Given the description of an element on the screen output the (x, y) to click on. 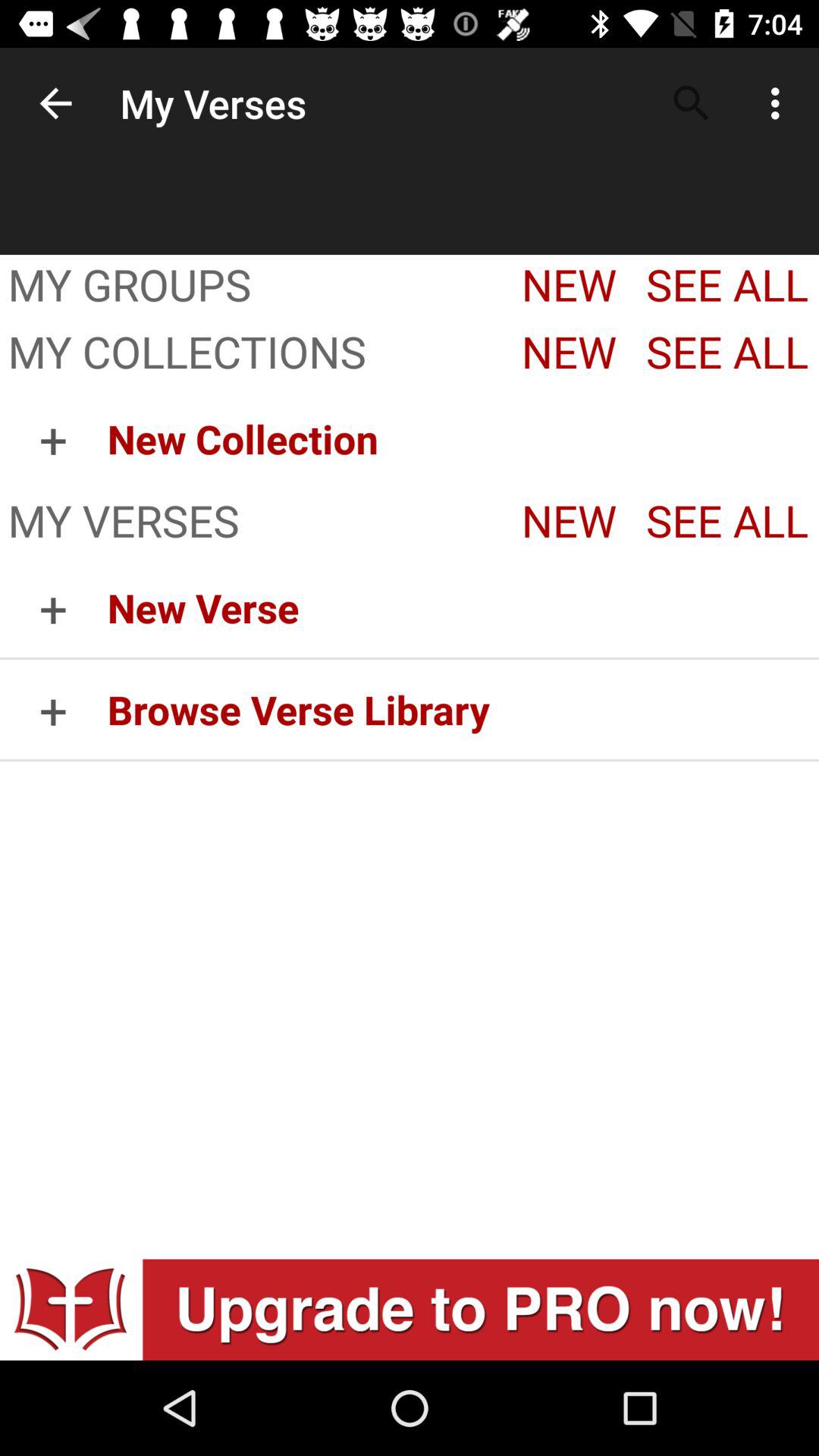
select app above + icon (251, 353)
